Given the description of an element on the screen output the (x, y) to click on. 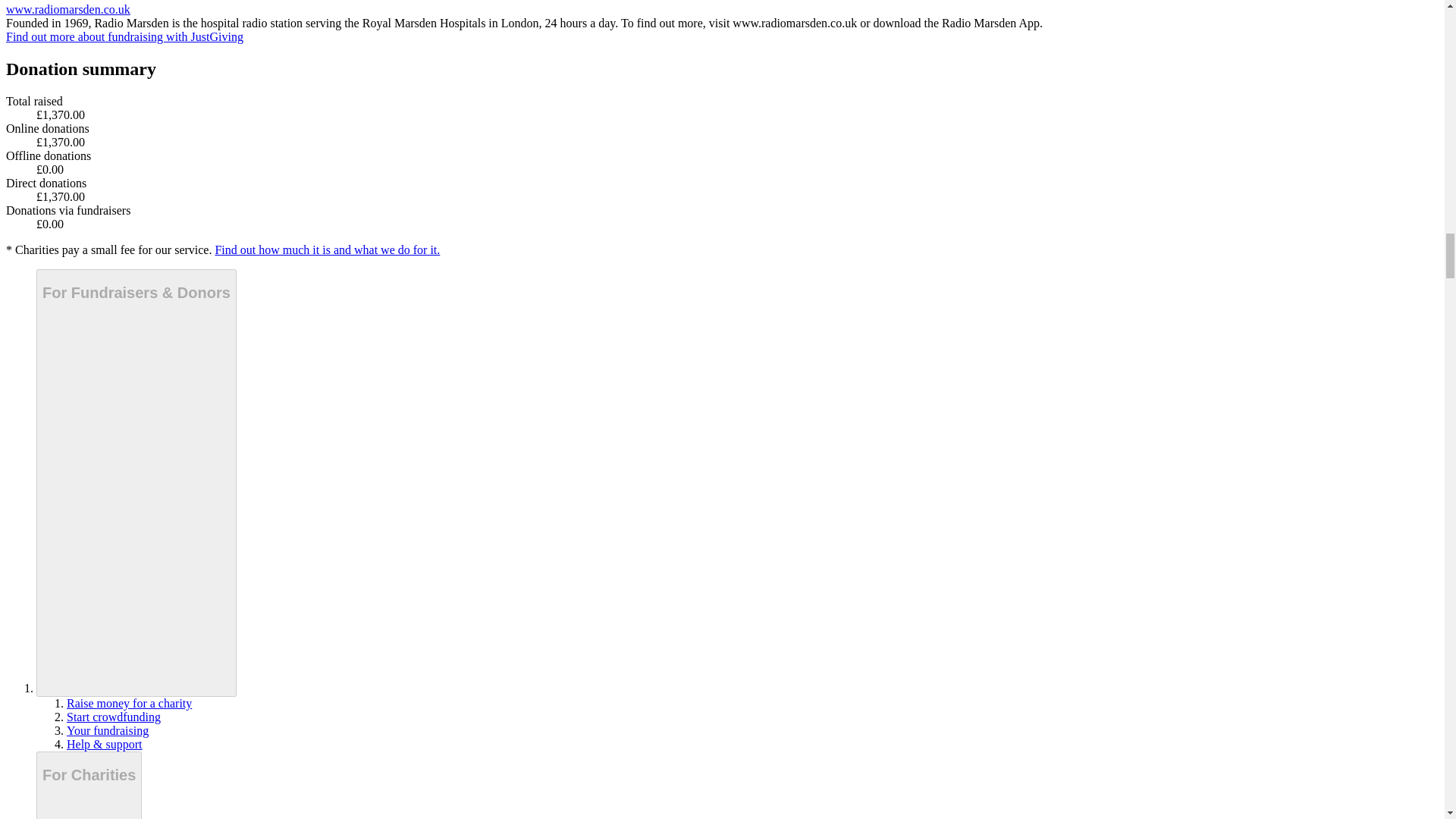
Start crowdfunding (113, 716)
For Charities (88, 785)
www.radiomarsden.co.uk (68, 9)
Your fundraising (107, 730)
Find out how much it is and what we do for it. (326, 249)
Find out more about fundraising with JustGiving (124, 36)
Raise money for a charity (129, 703)
